Given the description of an element on the screen output the (x, y) to click on. 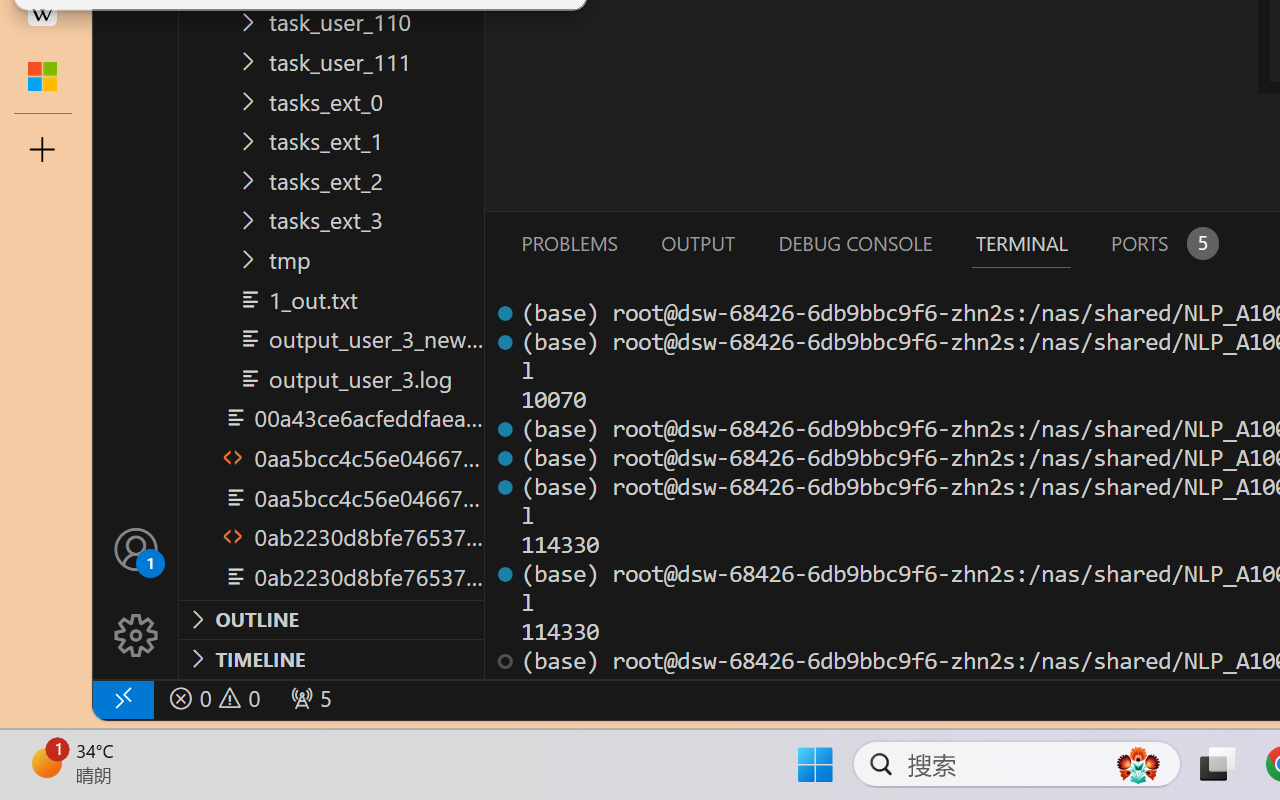
Problems (Ctrl+Shift+M) (567, 243)
Manage (135, 635)
Accounts - Sign in requested (135, 548)
Ports - 5 forwarded ports (1162, 243)
Forwarded Ports: 36301, 47065, 38781, 45817, 50331 (308, 698)
remote (122, 698)
